Given the description of an element on the screen output the (x, y) to click on. 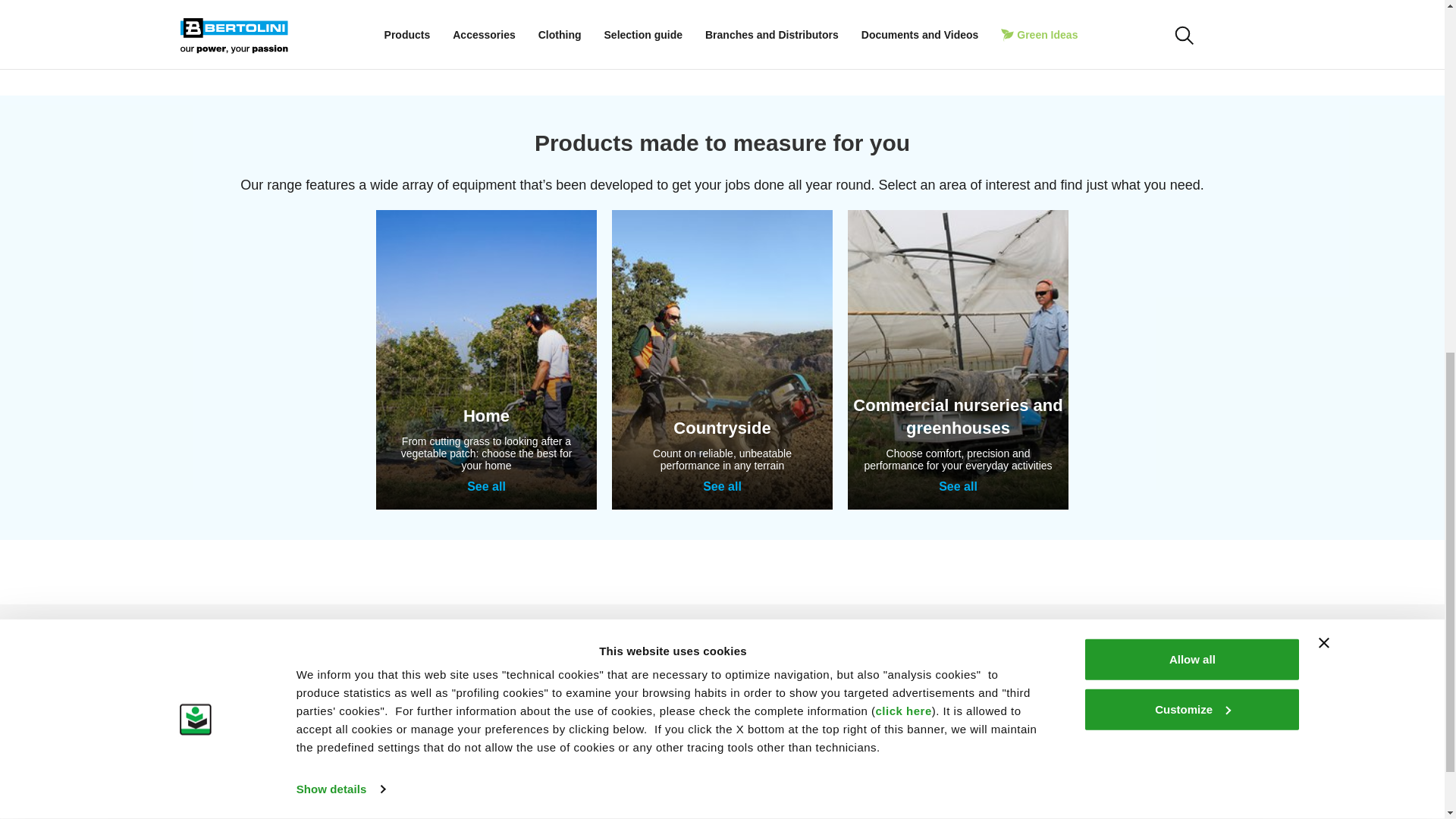
Search (1155, 13)
